Given the description of an element on the screen output the (x, y) to click on. 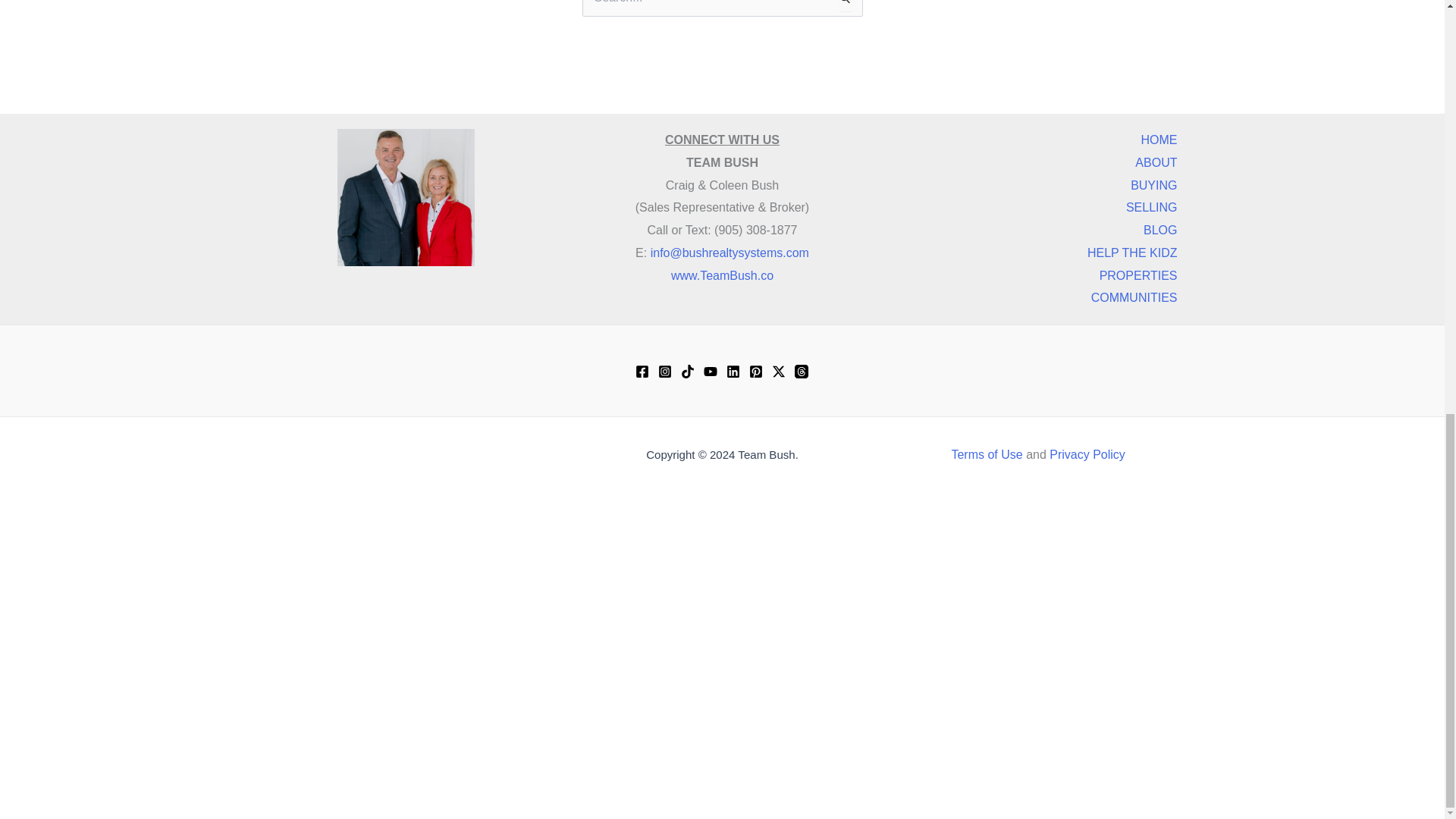
Search (844, 9)
Search (844, 9)
